Given the description of an element on the screen output the (x, y) to click on. 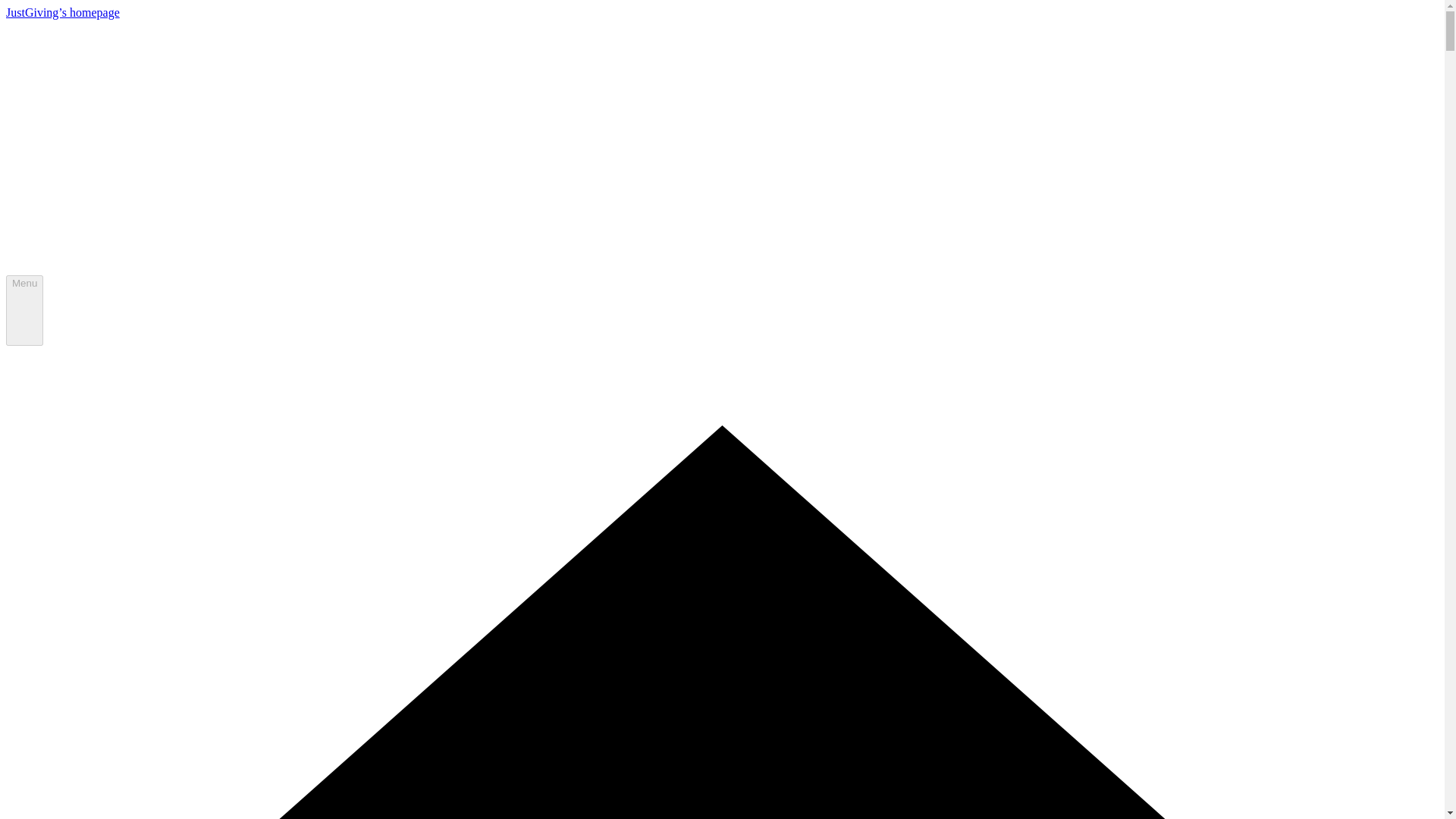
Menu (24, 310)
